Given the description of an element on the screen output the (x, y) to click on. 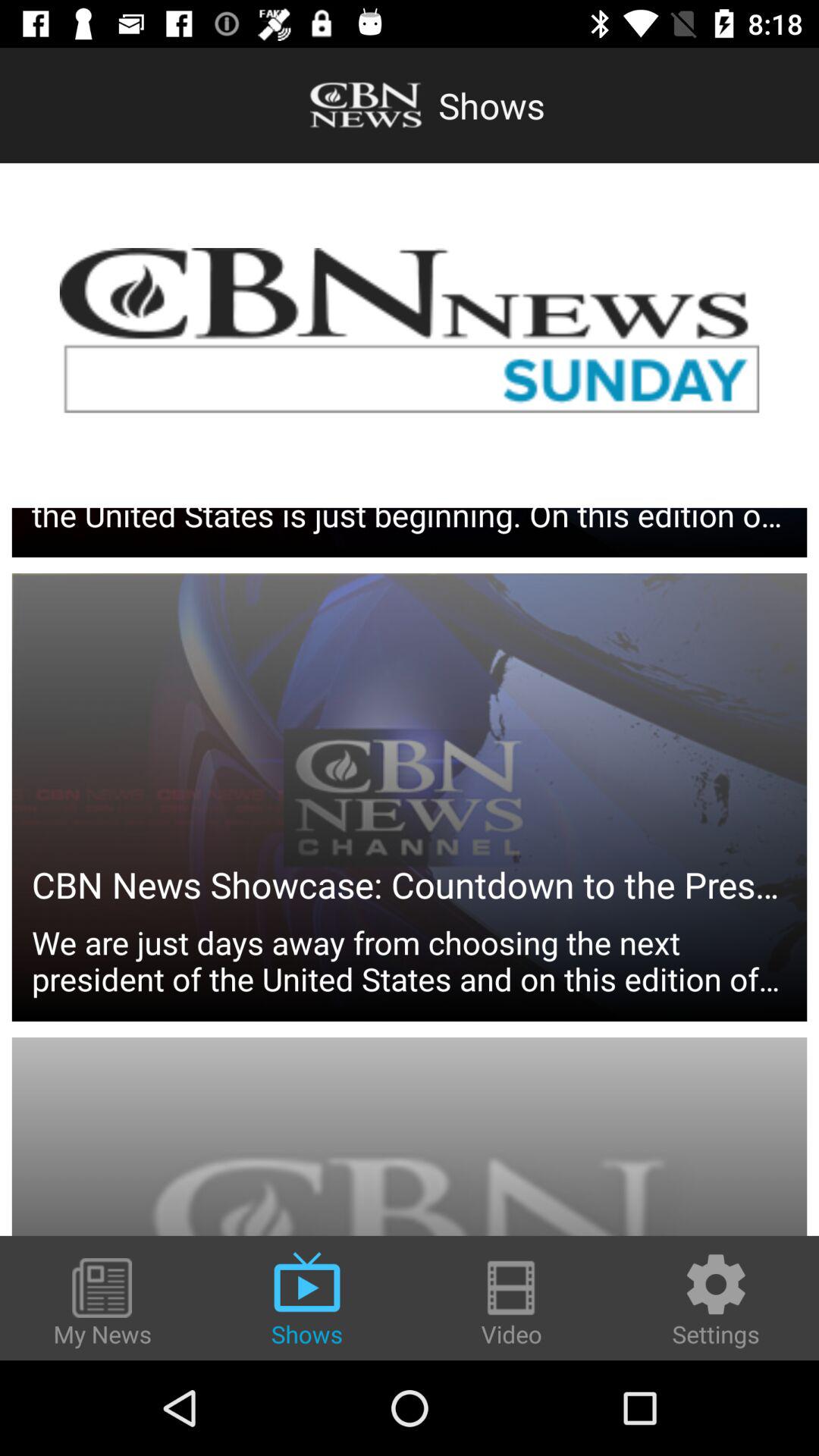
jump to settings (715, 1299)
